Given the description of an element on the screen output the (x, y) to click on. 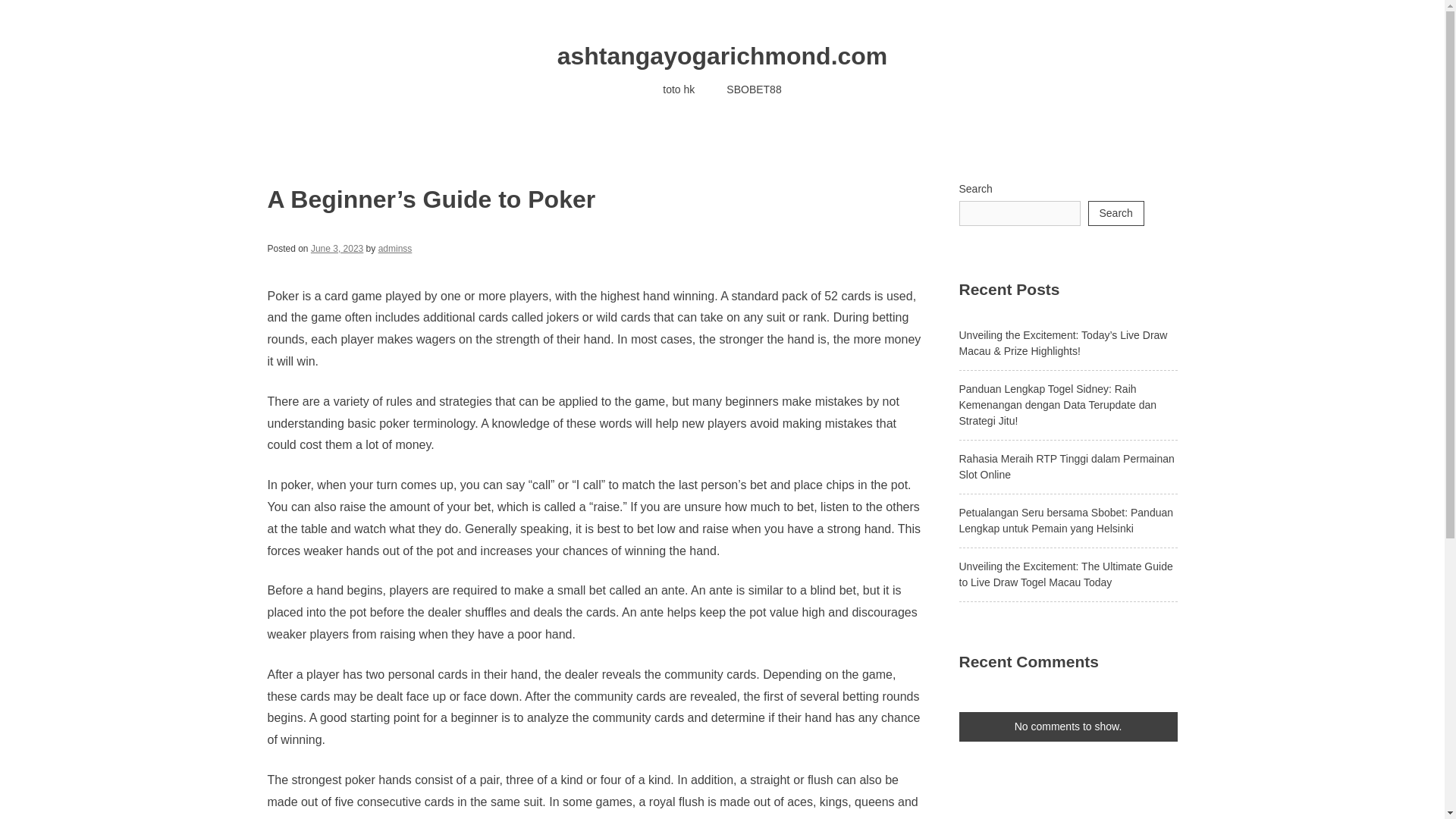
Rahasia Meraih RTP Tinggi dalam Permainan Slot Online (1065, 466)
June 3, 2023 (336, 248)
SBOBET88 (753, 89)
toto hk (678, 89)
adminss (395, 248)
Search (1114, 213)
ashtangayogarichmond.com (722, 55)
